Given the description of an element on the screen output the (x, y) to click on. 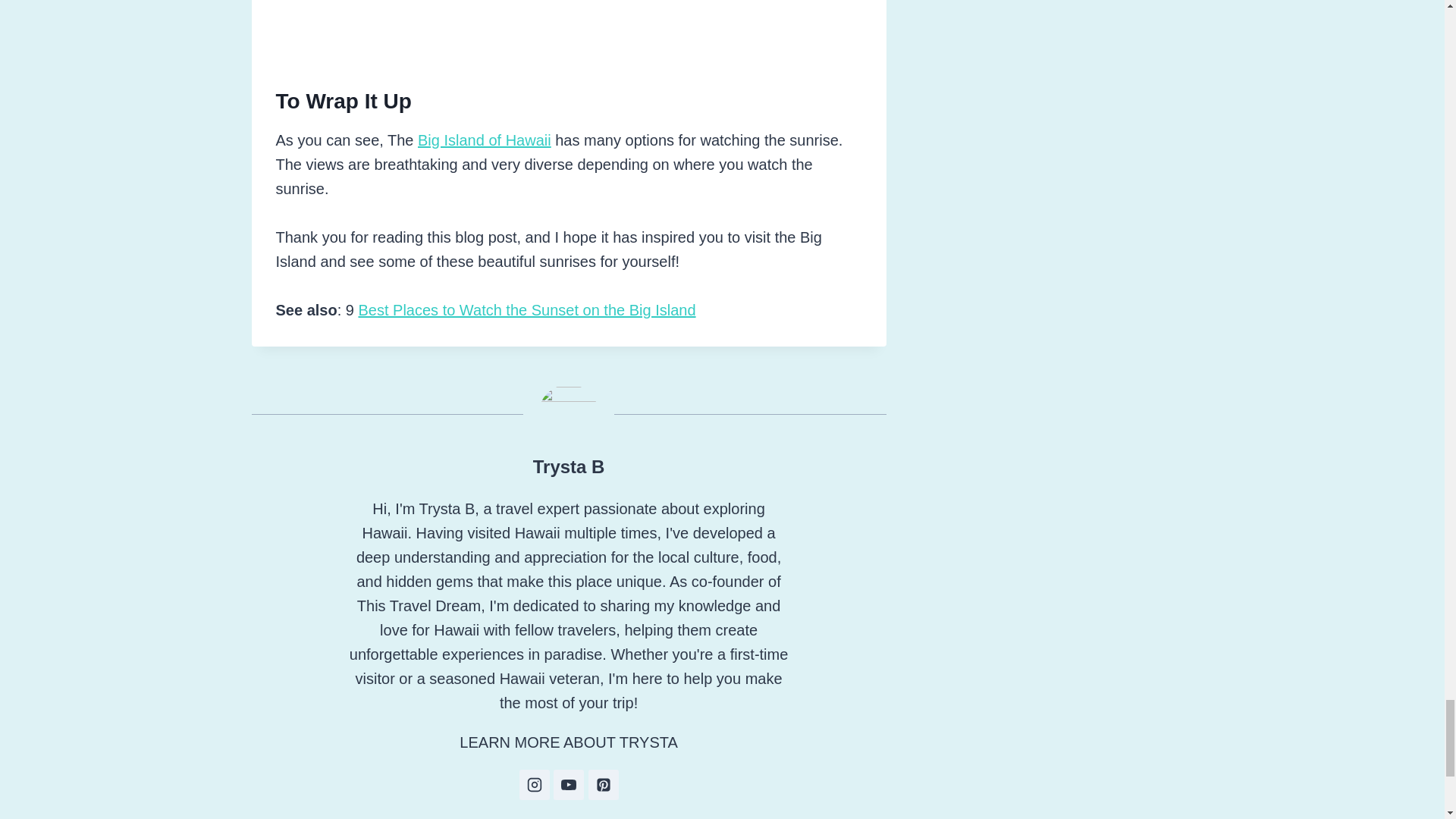
Trysta B (568, 466)
Follow Trysta B on Youtube (568, 784)
Follow Trysta B on Instagram (533, 784)
Follow Trysta B on Pinterest (603, 784)
Big Island of Hawaii (484, 139)
Best Places to Watch the Sunset on the Big Island (526, 310)
Posts by Trysta B (568, 466)
Big Island of Hawaii (484, 139)
